Given the description of an element on the screen output the (x, y) to click on. 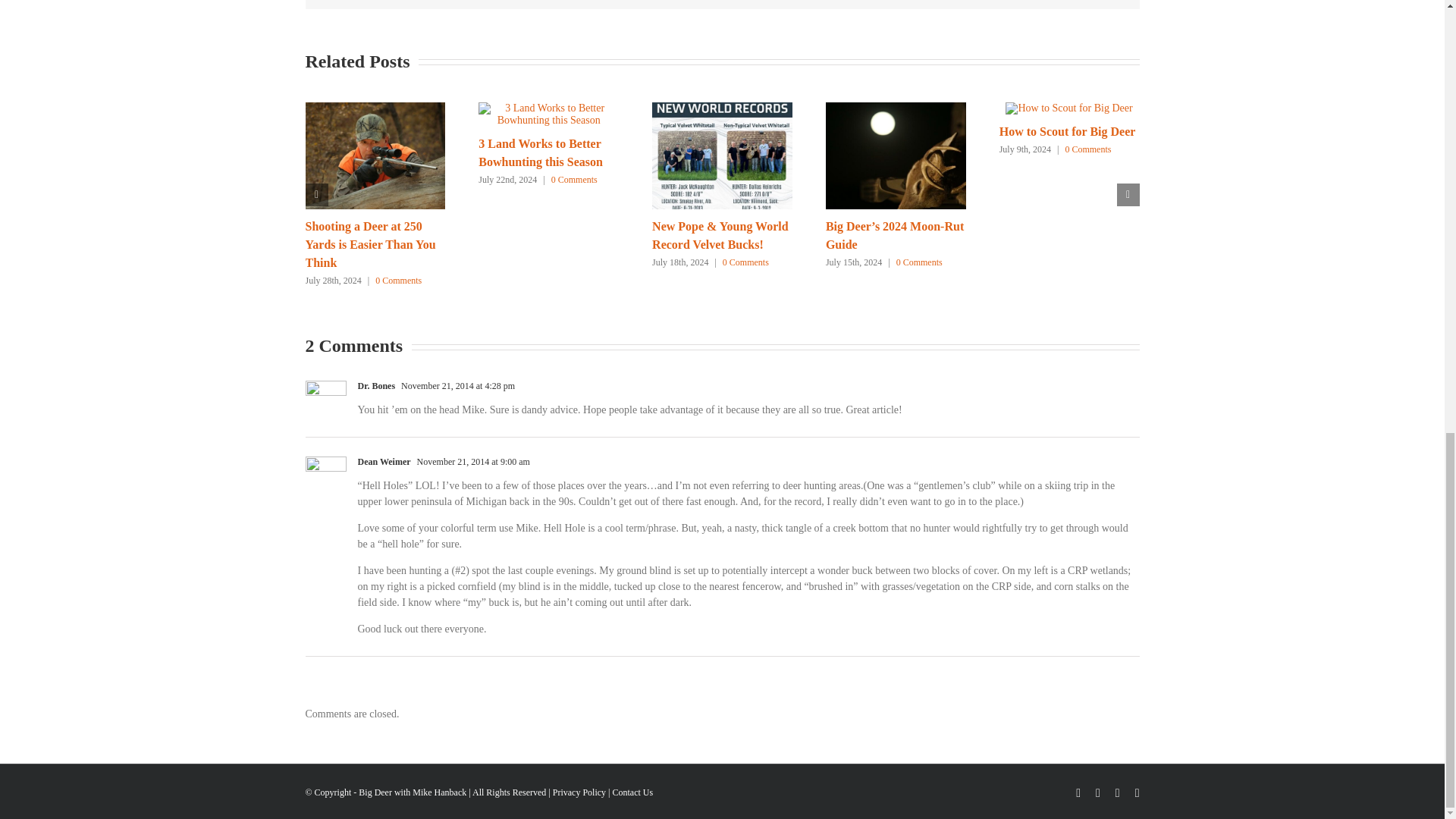
3 Land Works to Better Bowhunting this Season (540, 152)
Shooting a Deer at 250 Yards is Easier Than You Think (369, 244)
Shooting a Deer at 250 Yards is Easier Than You Think (369, 244)
